Given the description of an element on the screen output the (x, y) to click on. 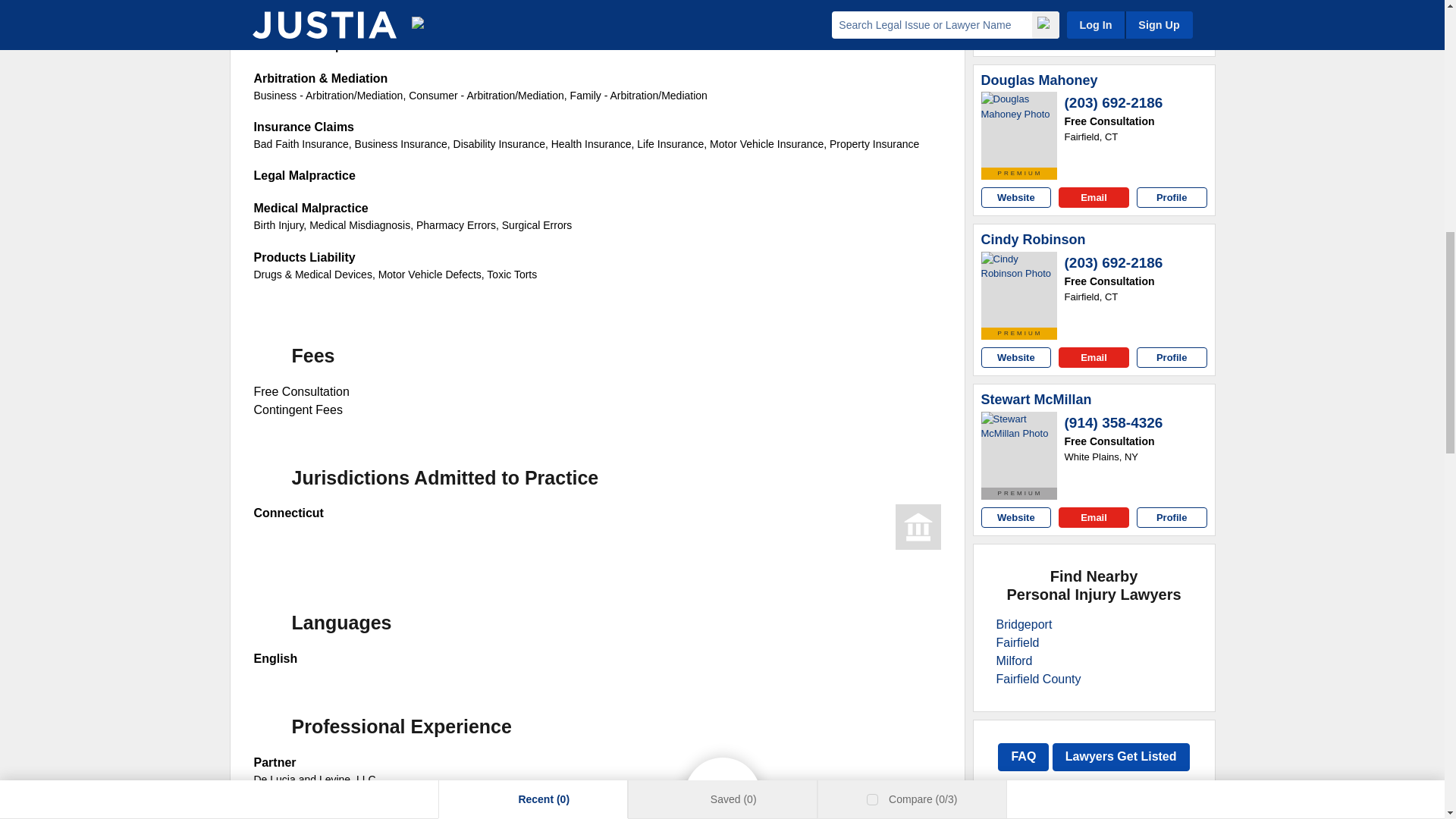
Kevin L. Hoffkins (1019, 4)
Cindy Robinson (1033, 239)
Cindy Robinson (1019, 289)
Douglas Mahoney (1039, 80)
Douglas Mahoney (1019, 129)
